Given the description of an element on the screen output the (x, y) to click on. 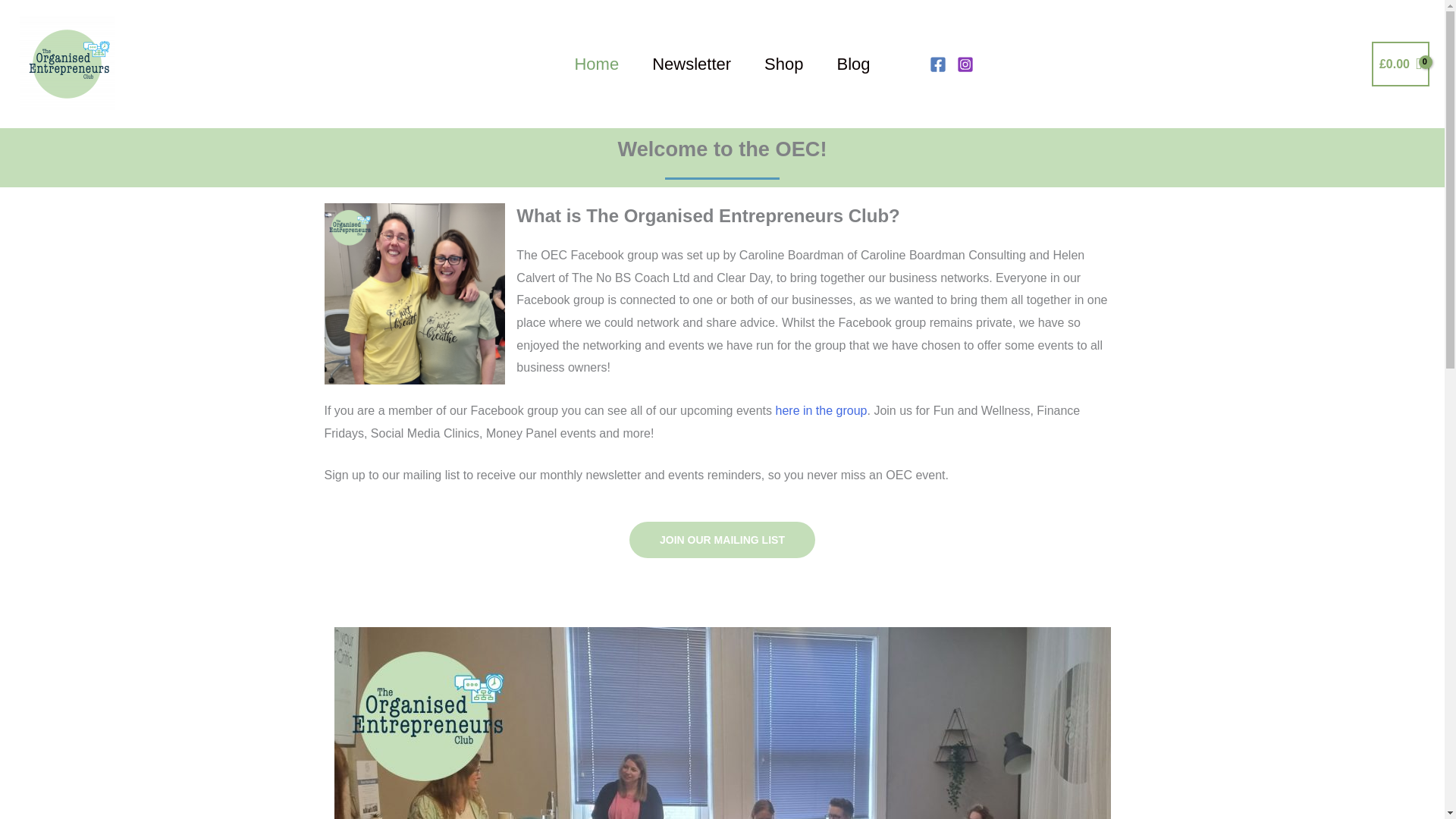
Newsletter (691, 63)
here in the group (820, 410)
Home (595, 63)
JOIN OUR MAILING LIST (721, 539)
Shop (783, 63)
Blog (852, 63)
